Given the description of an element on the screen output the (x, y) to click on. 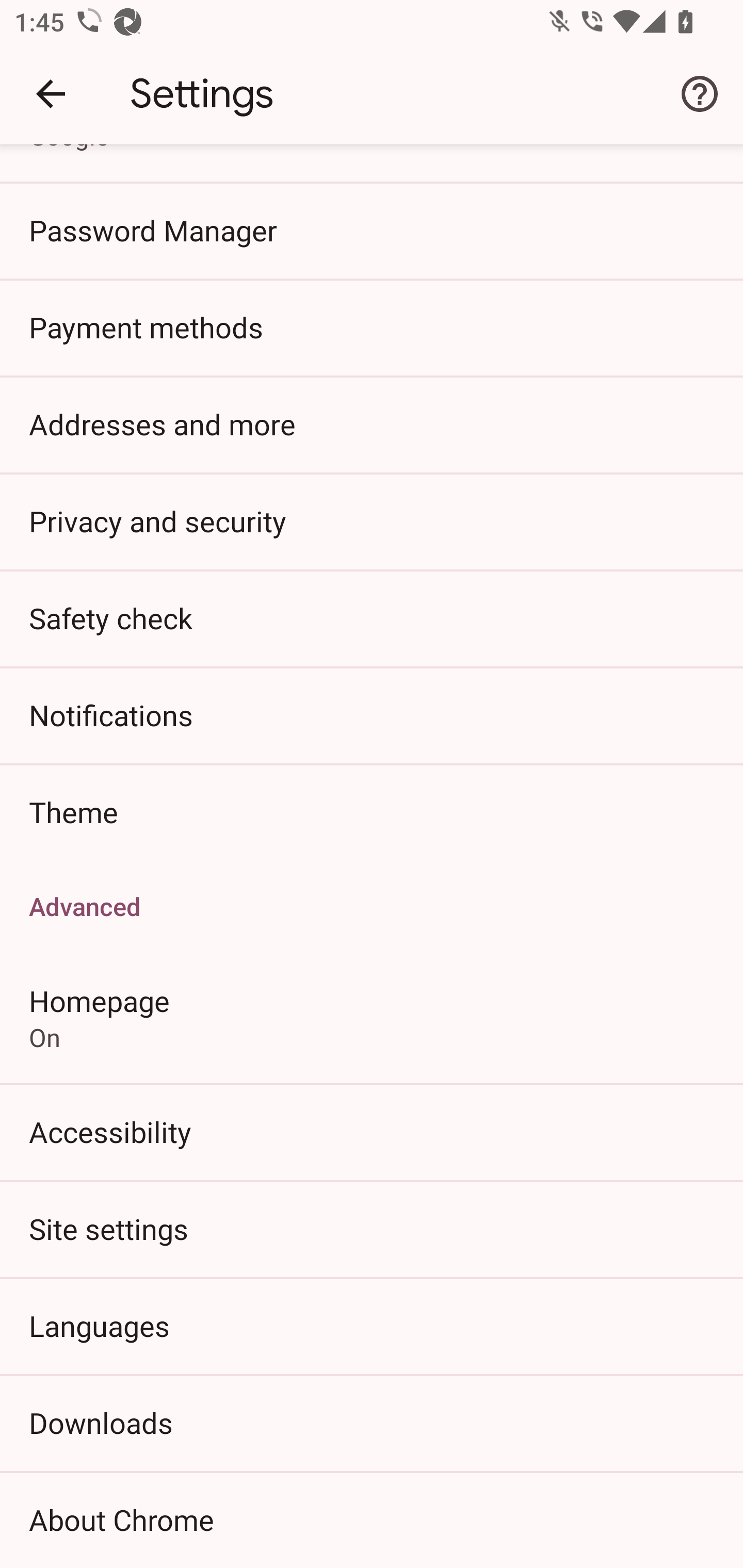
Navigate up (50, 93)
Help & feedback (699, 93)
Password Manager (371, 230)
Payment methods (371, 326)
Addresses and more (371, 422)
Privacy and security (371, 520)
Safety check (371, 617)
Notifications (371, 714)
Theme (371, 811)
Homepage On (371, 1017)
Accessibility (371, 1131)
Site settings (371, 1228)
Languages (371, 1324)
Downloads (371, 1421)
About Chrome (371, 1519)
